Given the description of an element on the screen output the (x, y) to click on. 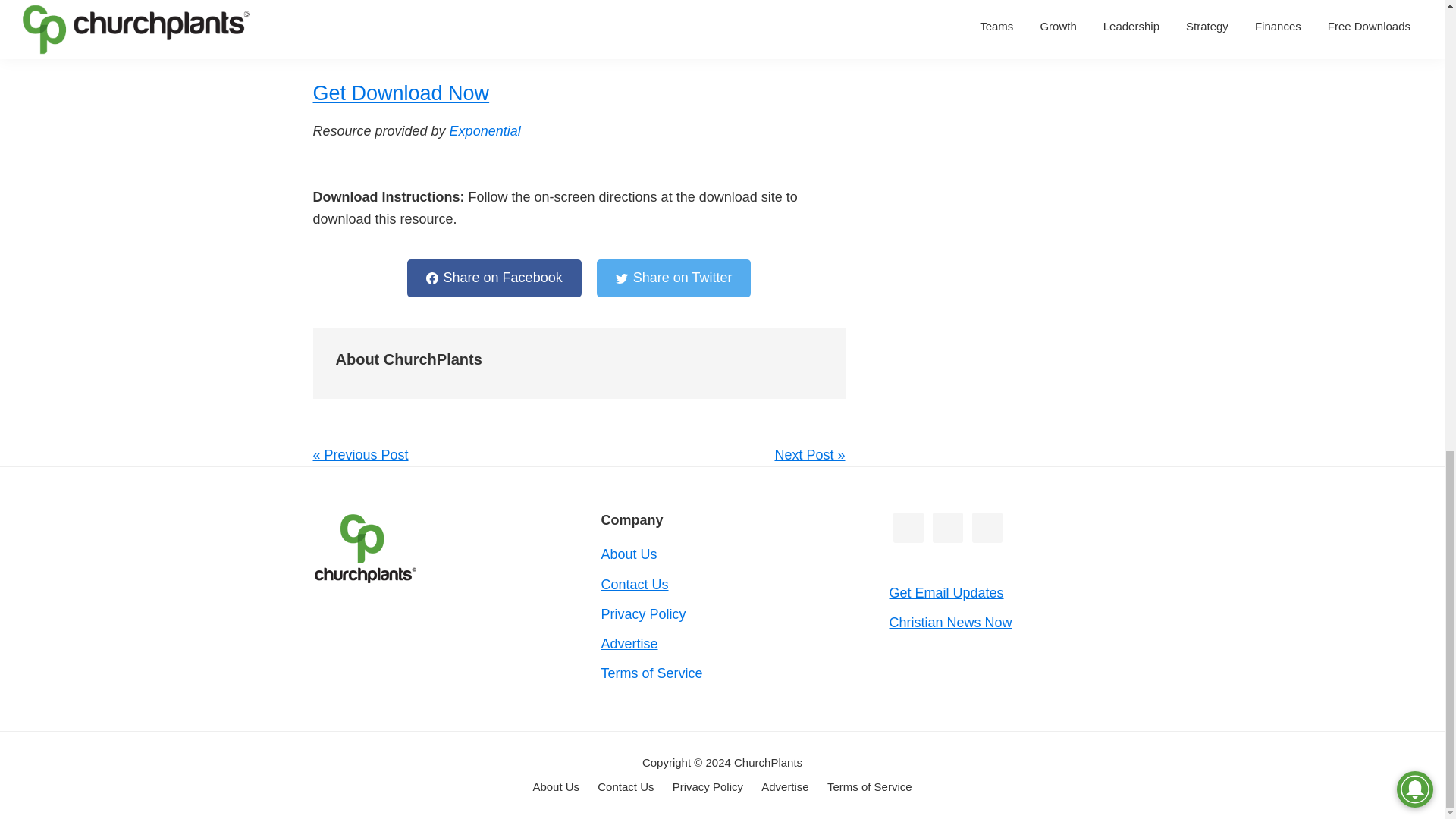
Advertise (628, 643)
Share on Facebook (493, 277)
Matthew 25 (396, 4)
About Us (555, 787)
Share This on Facebook (493, 277)
Get Download Now (401, 104)
Christian News Now (949, 622)
Contact Us (633, 584)
Share on Twitter (673, 277)
Terms of Service (650, 672)
Privacy Policy (642, 613)
About Us (627, 554)
Exponential (485, 130)
Privacy Policy (707, 787)
Get Email Updates (945, 592)
